Given the description of an element on the screen output the (x, y) to click on. 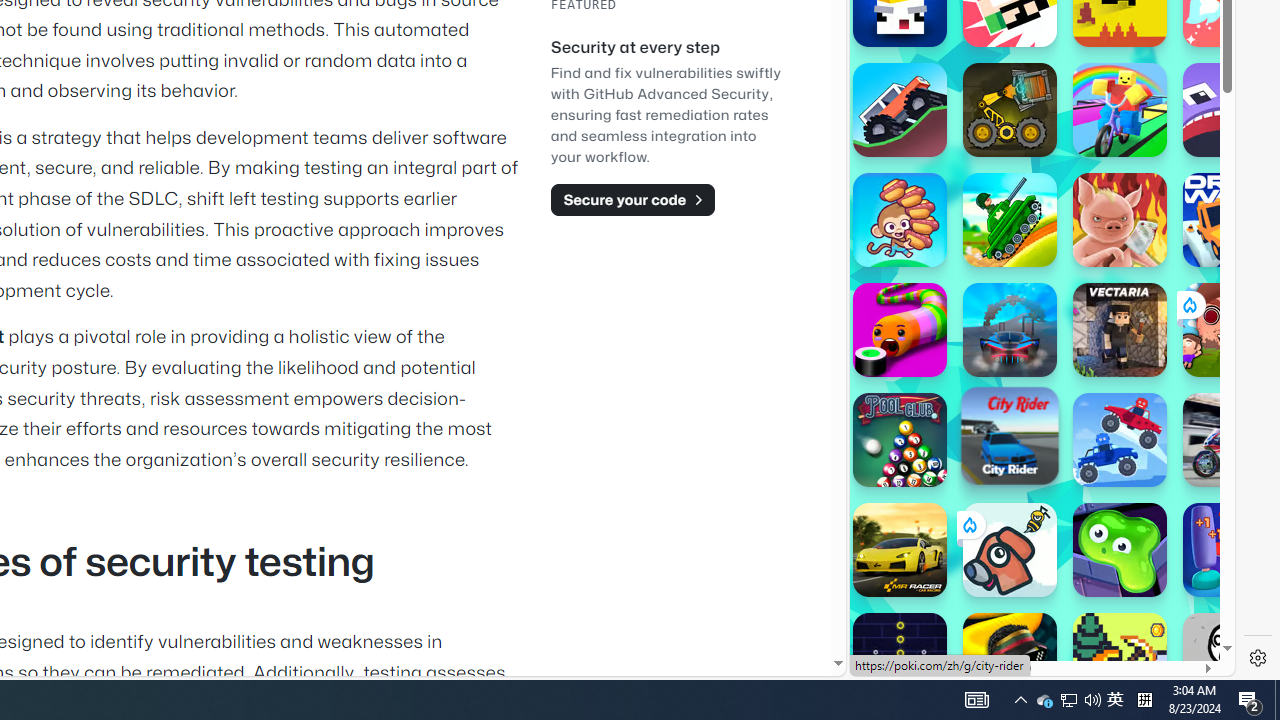
City Rider City Rider (1009, 435)
Crazy Cars (1217, 290)
Neon War (899, 659)
Eat the world Eat the world (1229, 329)
Slime Laboratory (1119, 549)
Monkey Mart (899, 219)
poki.com (1092, 338)
Sushi Party (899, 329)
Battle Wheels Battle Wheels (1119, 439)
Pool Club (899, 439)
Hills of Steel (925, 290)
Super Bike the Champion Super Bike the Champion (1229, 439)
